Given the description of an element on the screen output the (x, y) to click on. 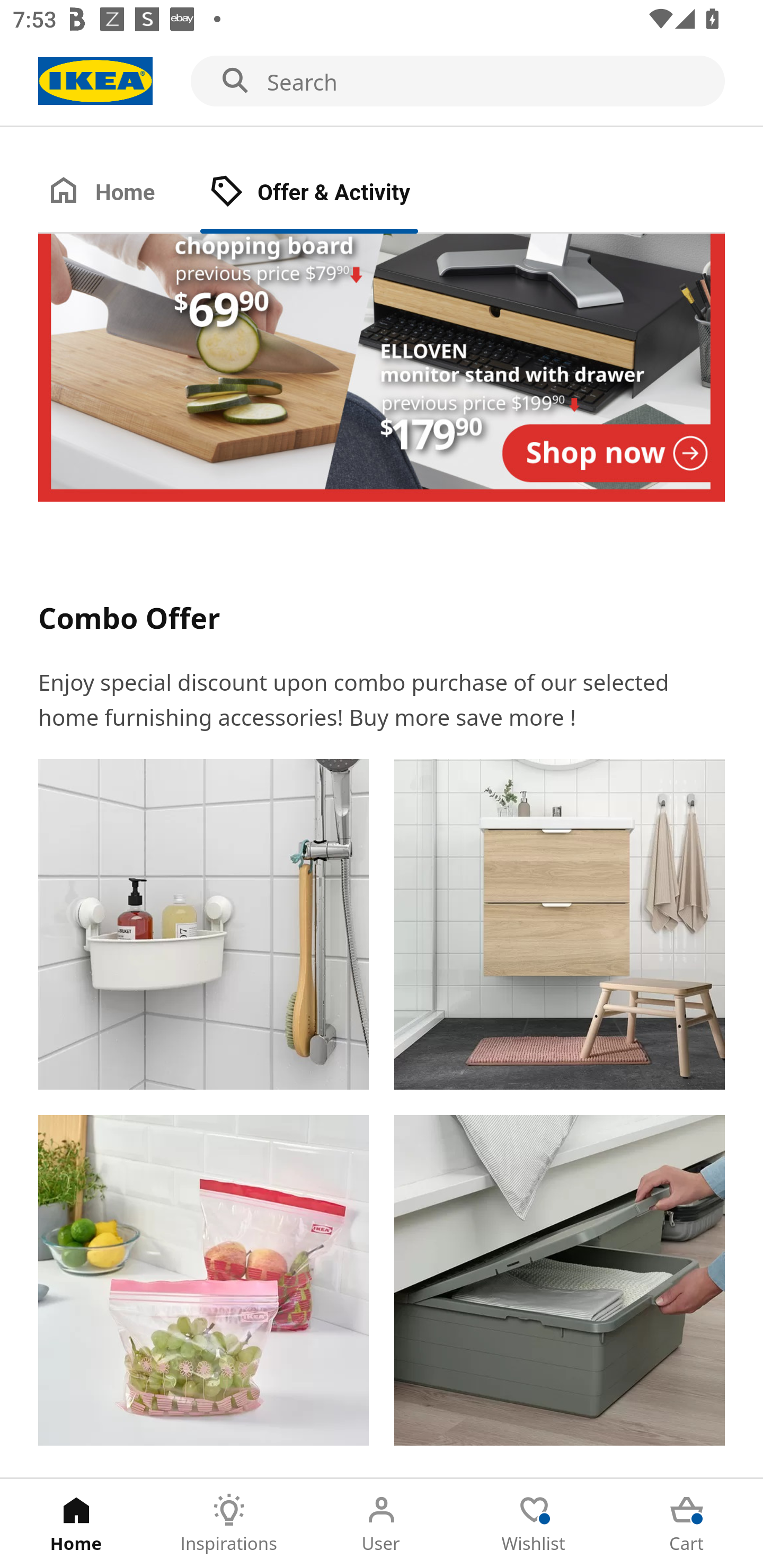
Search (381, 81)
Home
Tab 1 of 2 (118, 192)
Offer & Activity
Tab 2 of 2 (327, 192)
Home
Tab 1 of 5 (76, 1522)
Inspirations
Tab 2 of 5 (228, 1522)
User
Tab 3 of 5 (381, 1522)
Wishlist
Tab 4 of 5 (533, 1522)
Cart
Tab 5 of 5 (686, 1522)
